Given the description of an element on the screen output the (x, y) to click on. 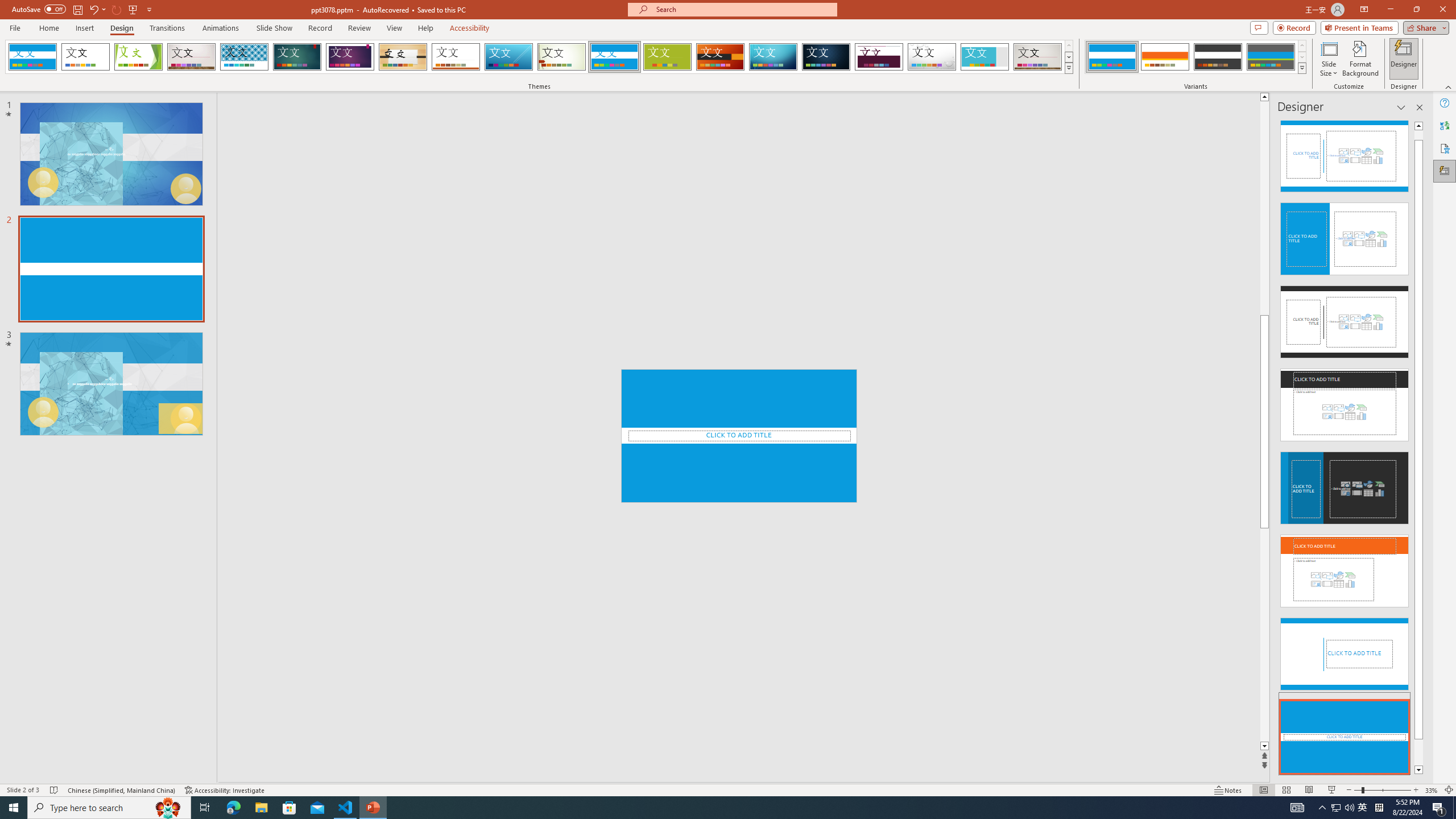
Zoom 33% (1431, 790)
Banded (614, 56)
Facet (138, 56)
Decorative Locked (738, 435)
Office Theme (85, 56)
Ion (296, 56)
Class: NetUIScrollBar (1418, 447)
